Given the description of an element on the screen output the (x, y) to click on. 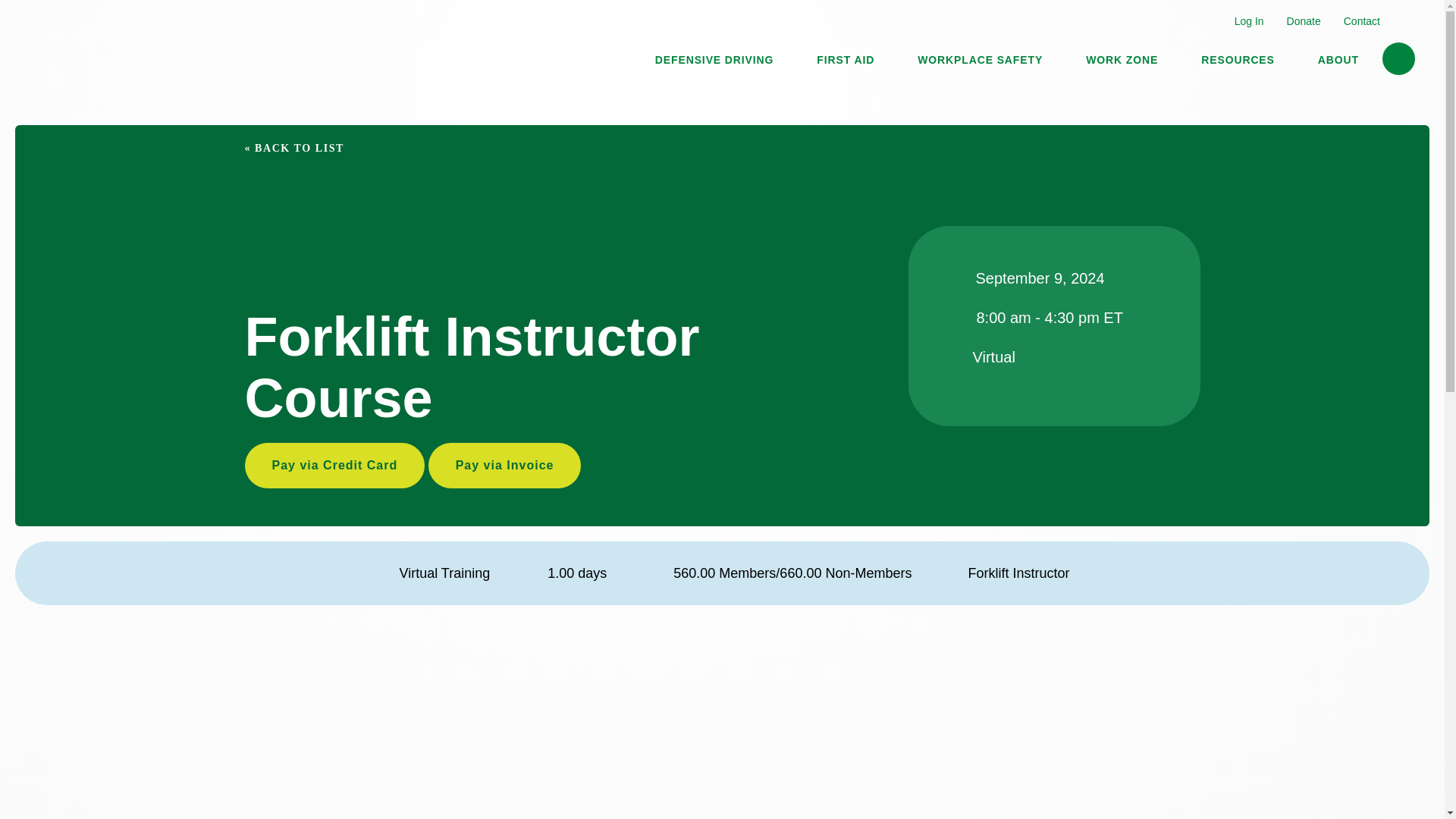
FIRST AID (844, 58)
DEFENSIVE DRIVING (713, 58)
WORKPLACE SAFETY (980, 58)
Work Zone Overview (1121, 58)
First Aid Overview (844, 58)
WORK ZONE (1121, 58)
National Safety Council (97, 54)
Workplace Safety Overview (980, 58)
RESOURCES (1237, 58)
